Given the description of an element on the screen output the (x, y) to click on. 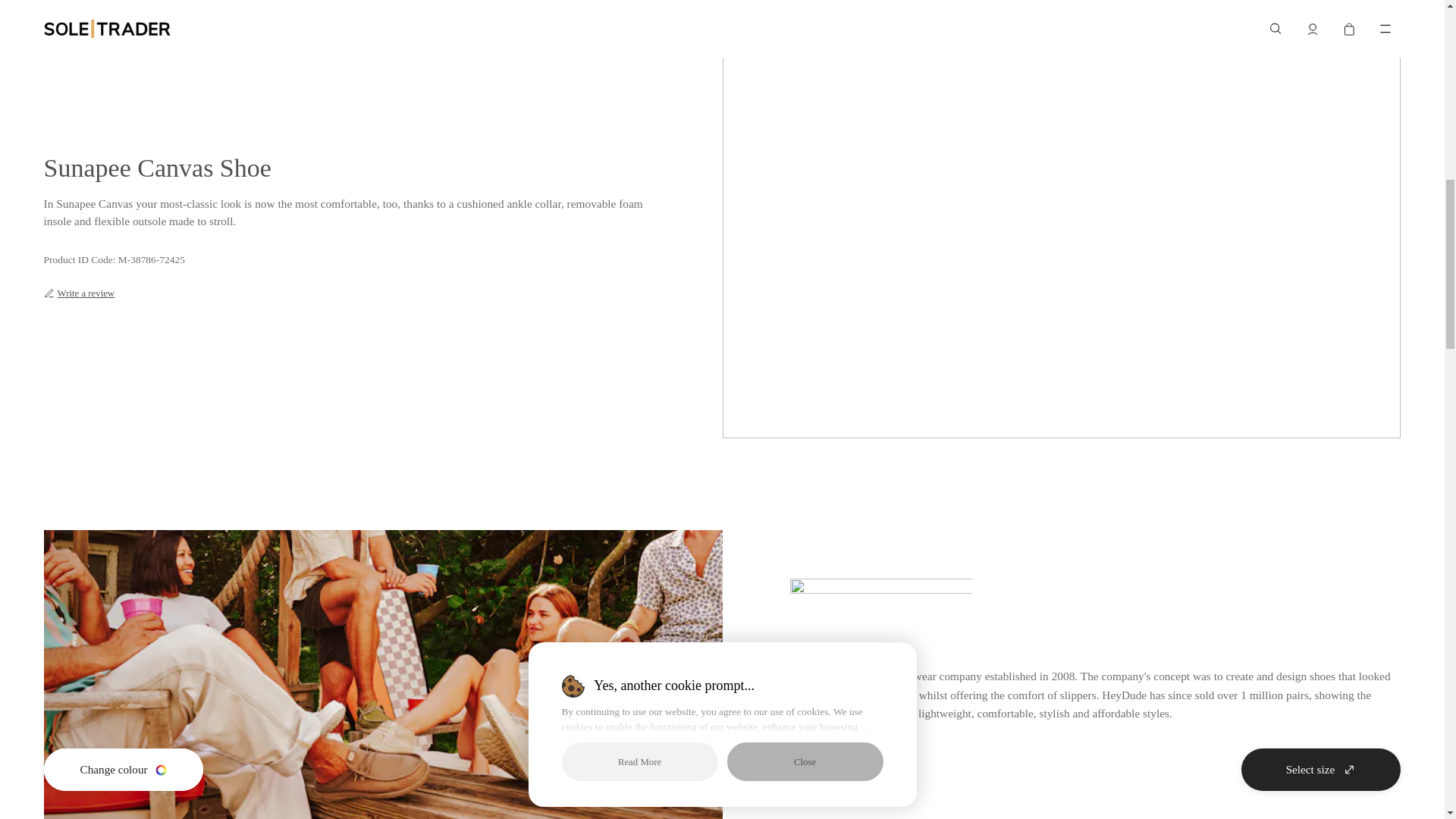
Write a review (79, 293)
Shop Heydude (843, 765)
